Given the description of an element on the screen output the (x, y) to click on. 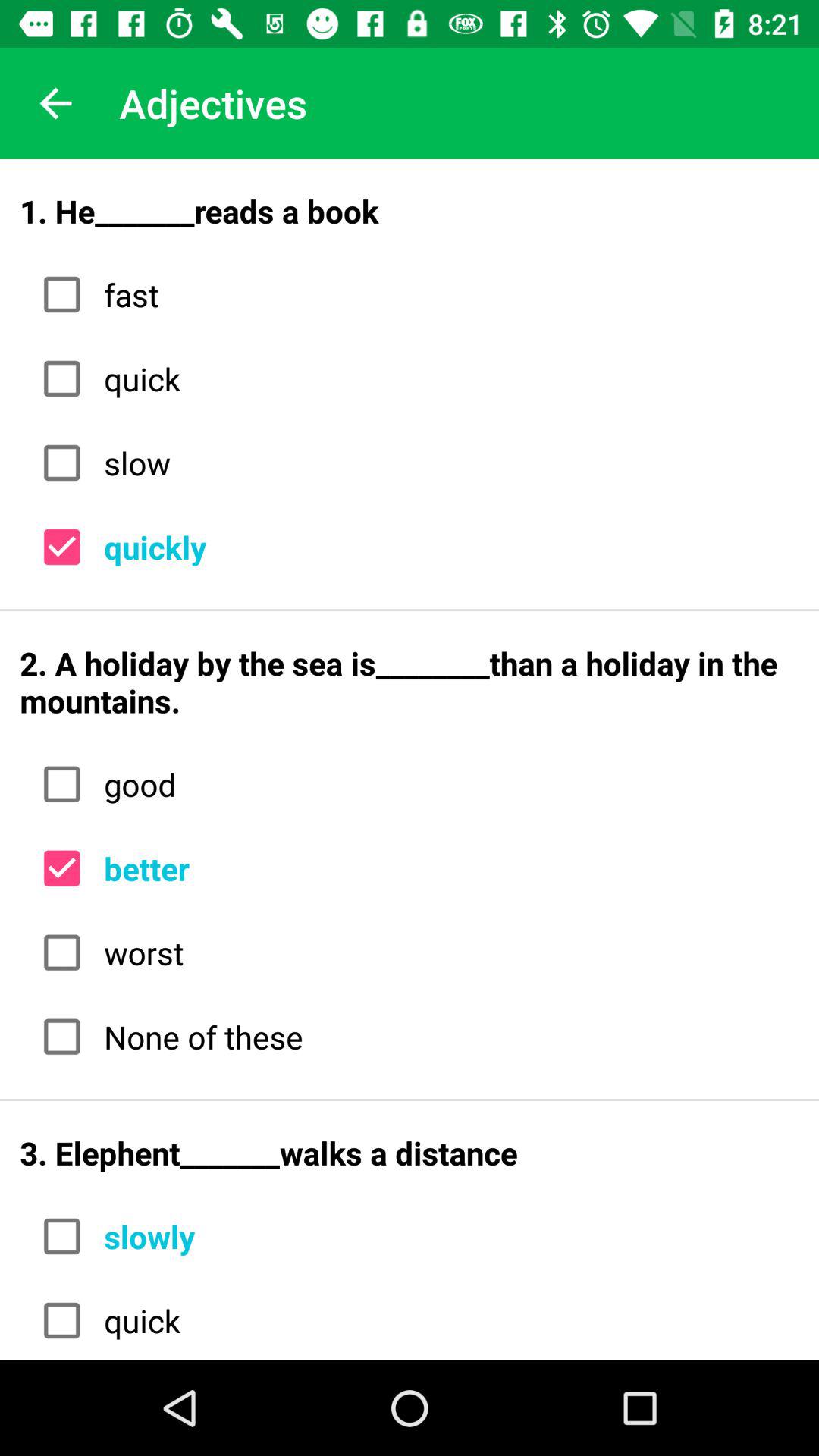
turn off the slow (446, 462)
